Given the description of an element on the screen output the (x, y) to click on. 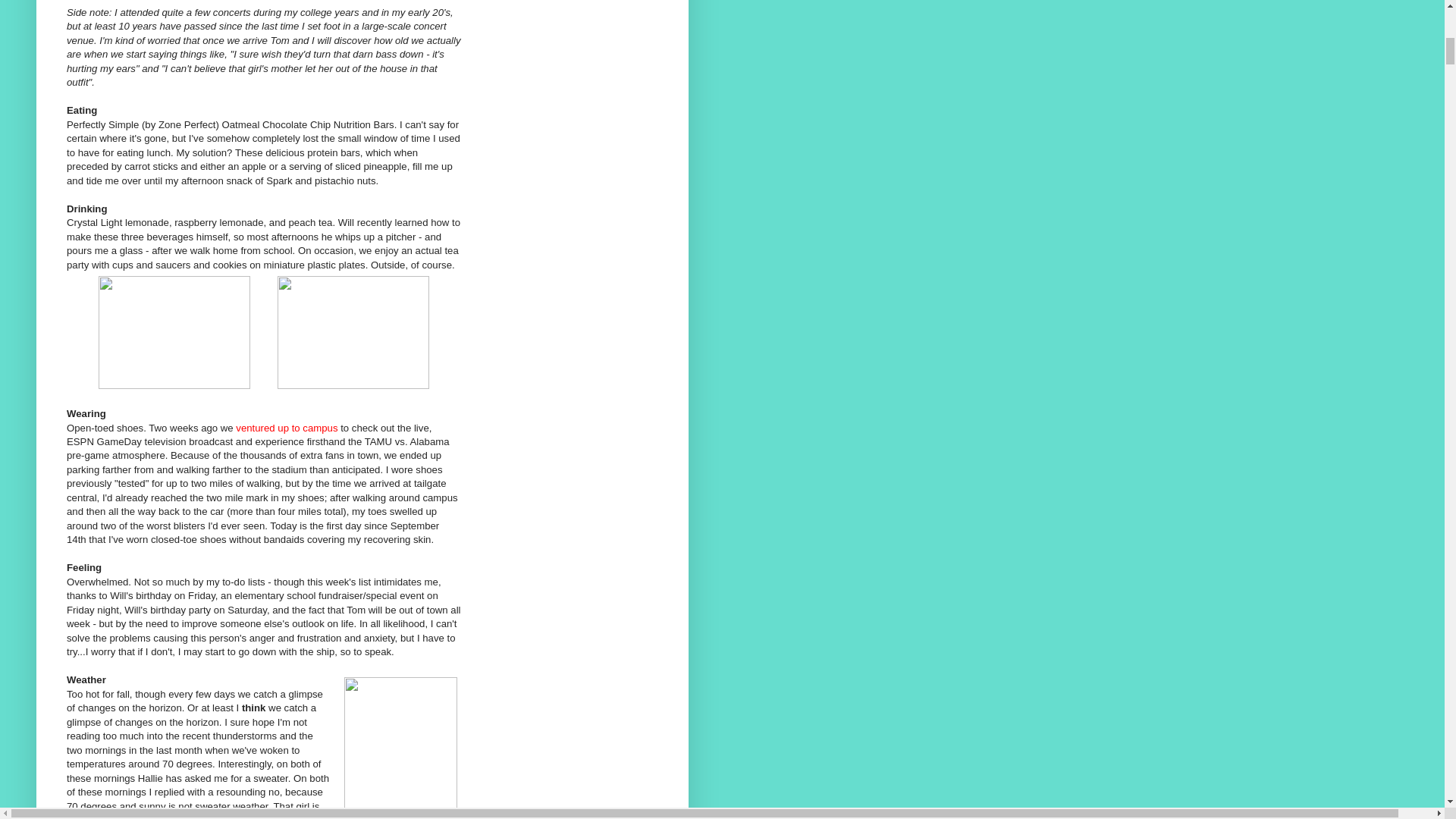
ventured up to campus (286, 428)
